Given the description of an element on the screen output the (x, y) to click on. 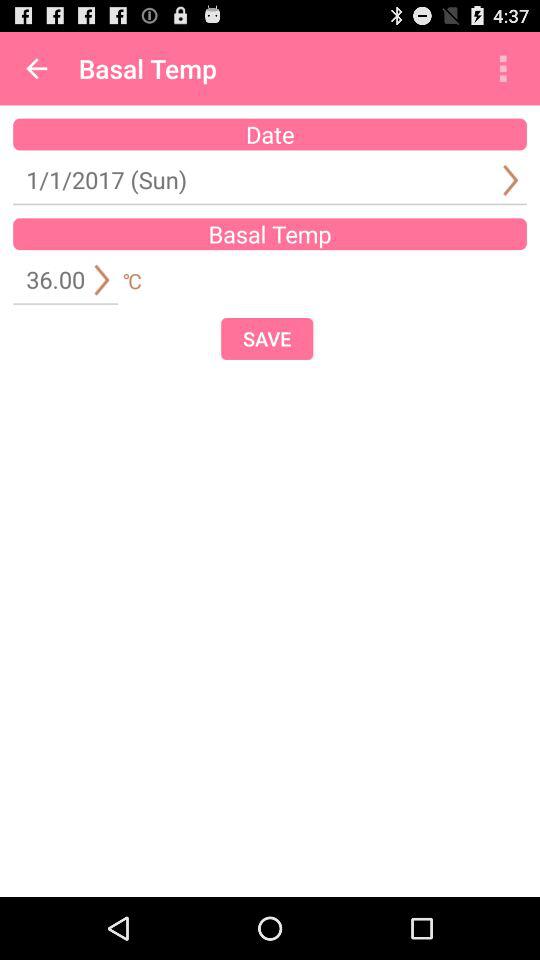
press icon above the date icon (36, 68)
